Given the description of an element on the screen output the (x, y) to click on. 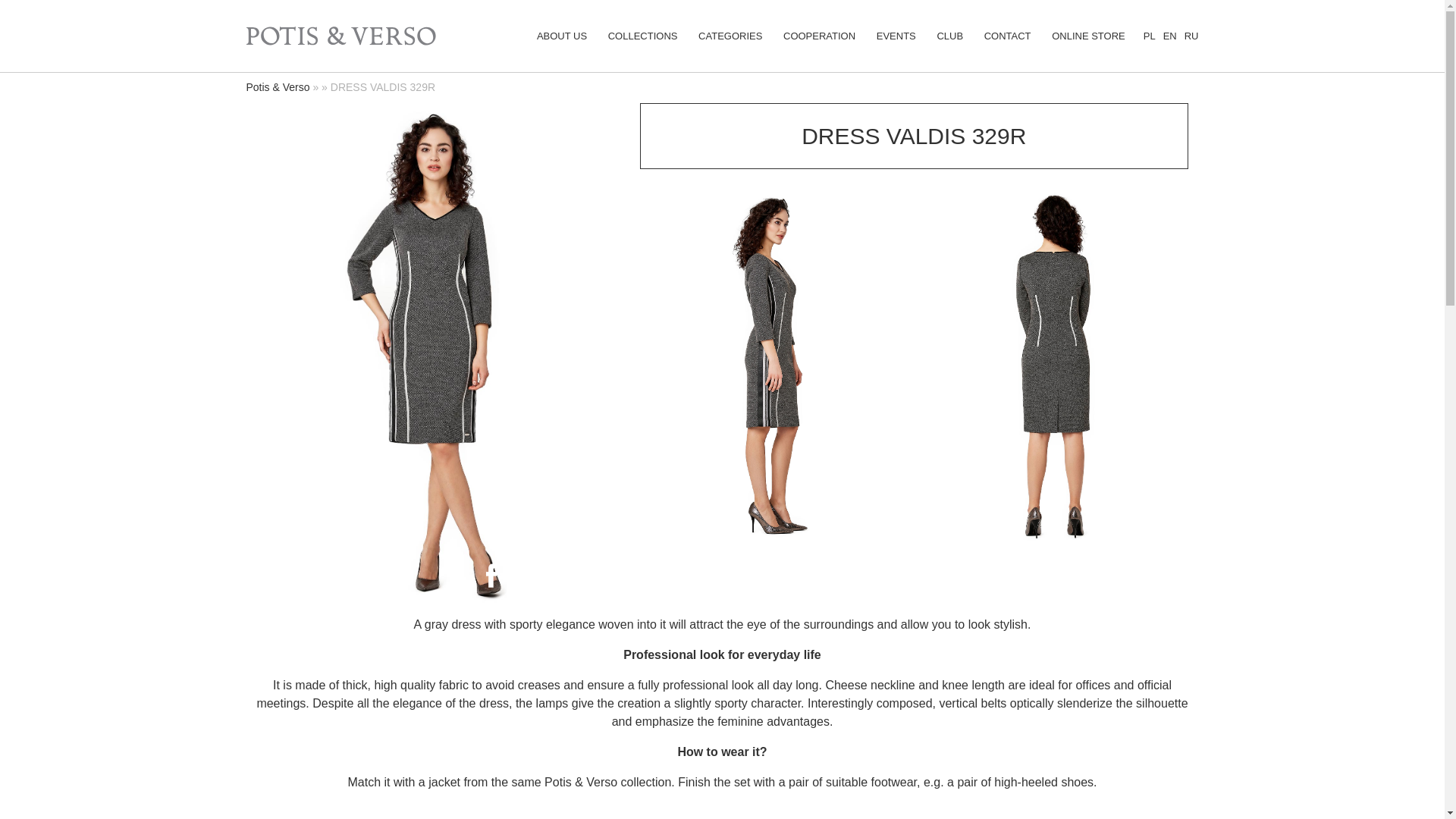
COOPERATION (819, 36)
COLLECTIONS (643, 36)
RU (1191, 36)
ONLINE STORE (1088, 36)
EN (1169, 36)
